Given the description of an element on the screen output the (x, y) to click on. 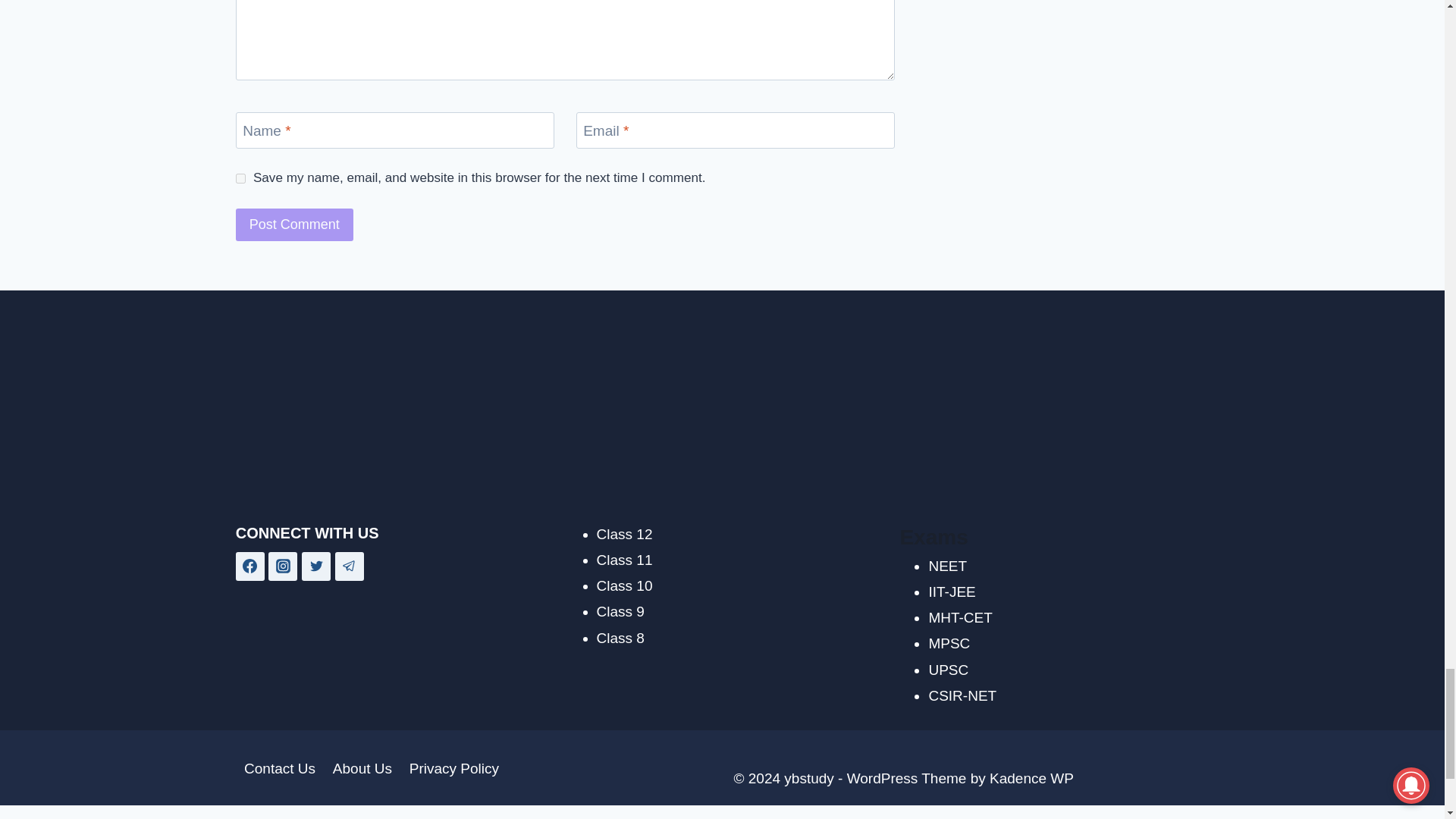
Post Comment (294, 224)
yes (240, 178)
